Given the description of an element on the screen output the (x, y) to click on. 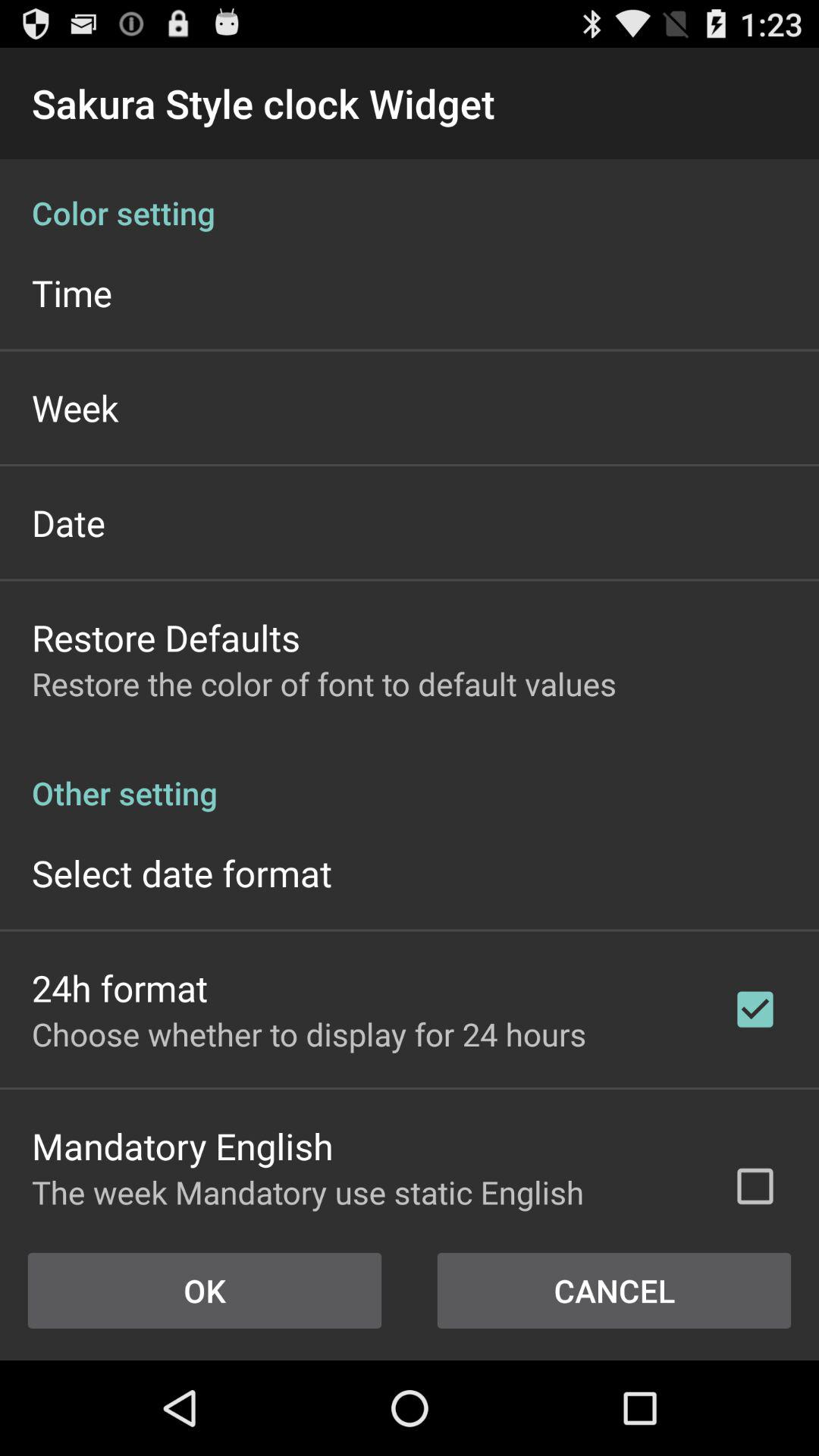
swipe until the choose whether to (308, 1033)
